Given the description of an element on the screen output the (x, y) to click on. 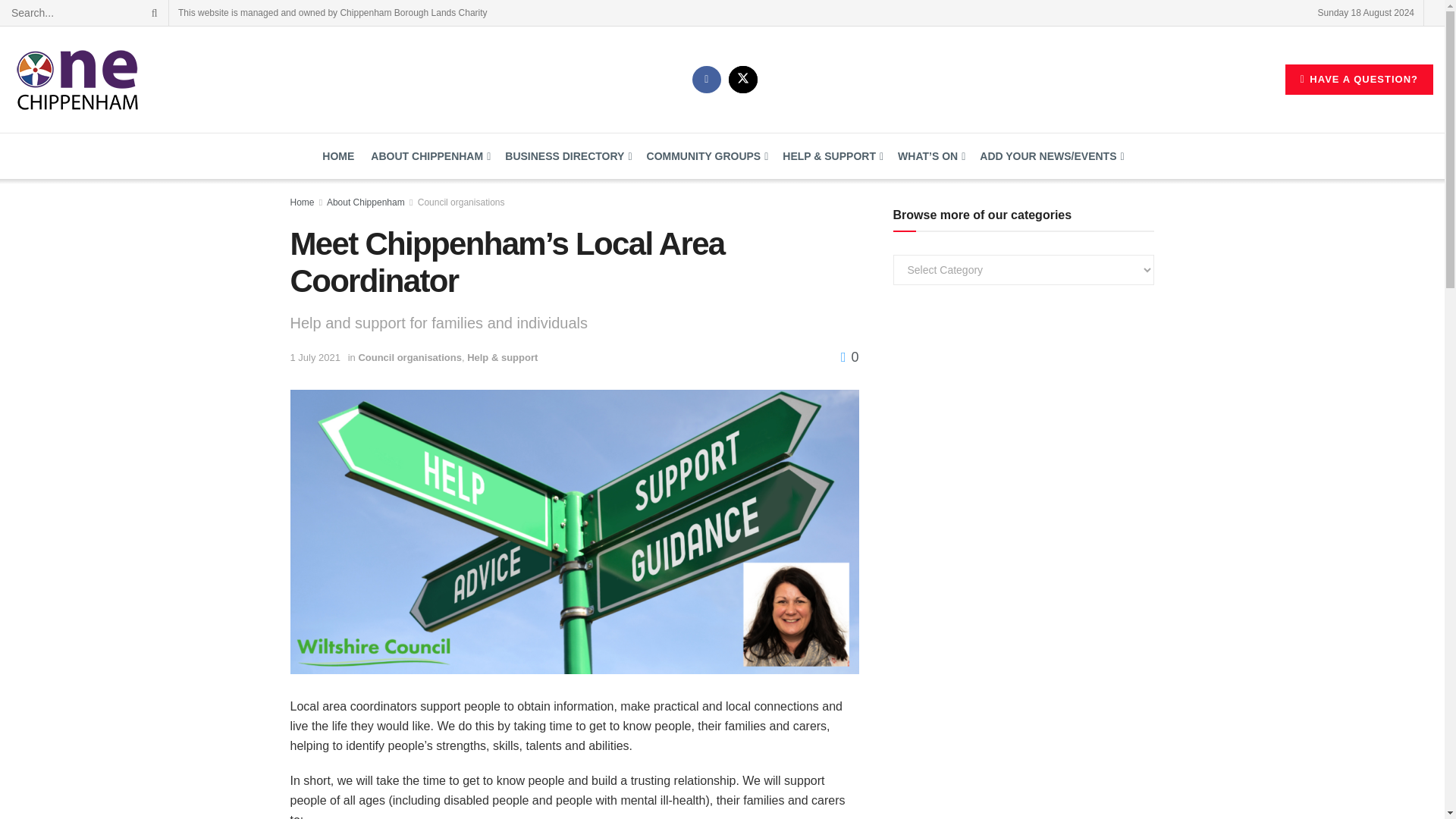
BUSINESS DIRECTORY (566, 156)
ABOUT CHIPPENHAM (429, 156)
HAVE A QUESTION? (1358, 79)
